Given the description of an element on the screen output the (x, y) to click on. 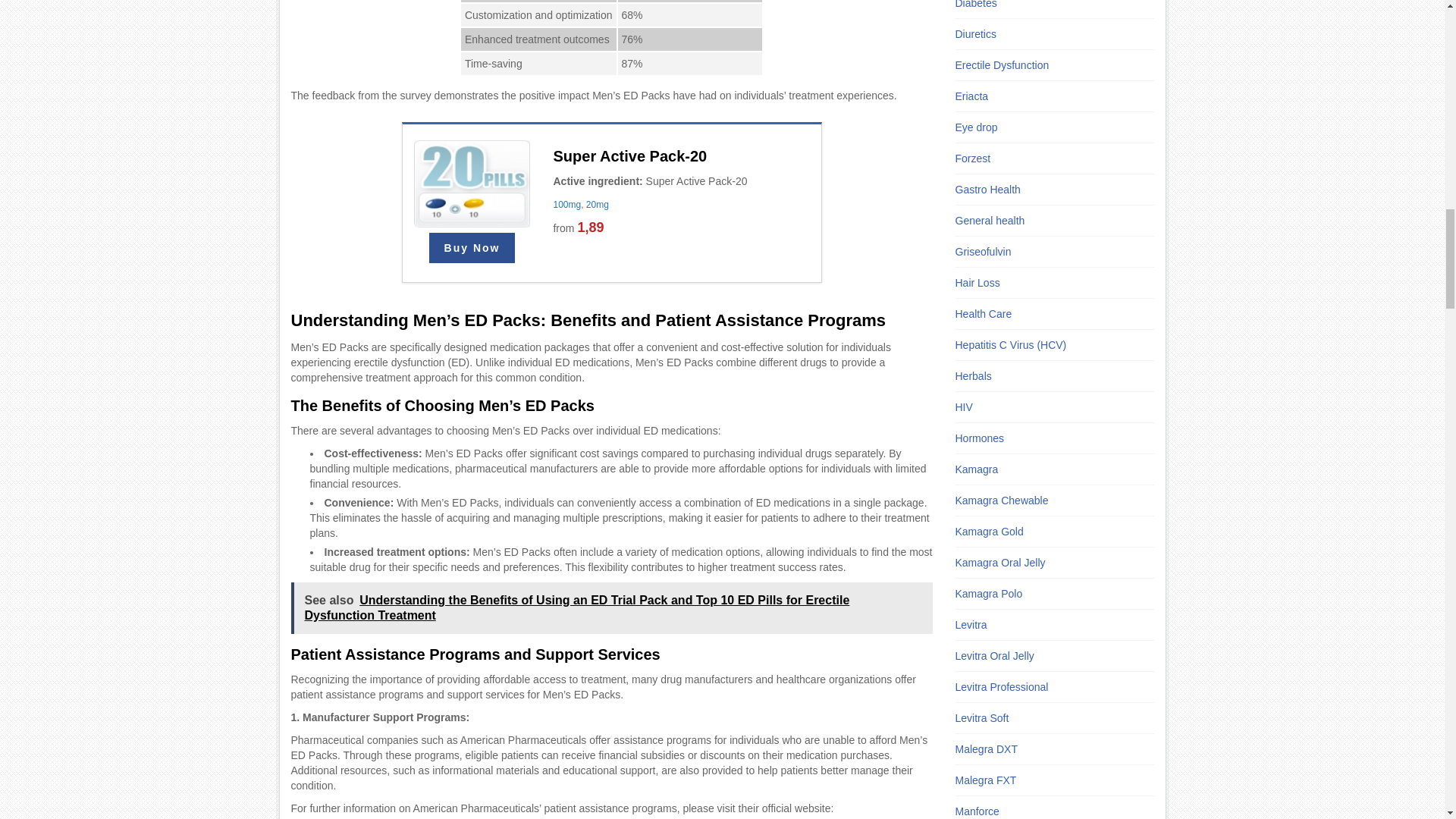
Buy Now (472, 247)
Buy Now (472, 247)
